Given the description of an element on the screen output the (x, y) to click on. 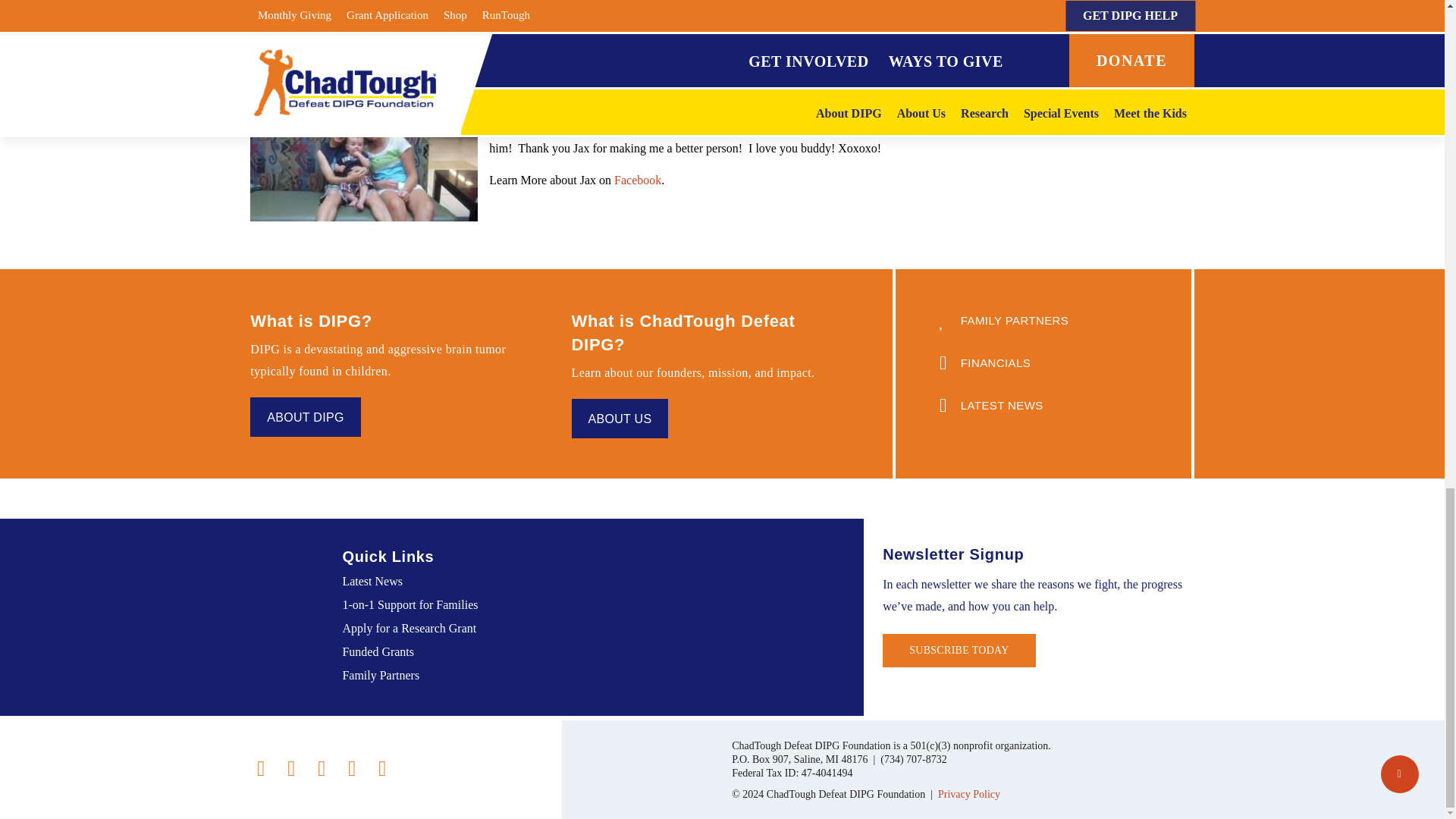
Latest News (1042, 404)
Our Financials (1042, 361)
About DIPG (304, 416)
Subscribe to the ChadTough Defeat DIPG Newsletter (958, 650)
Our Family Partners (1042, 319)
About Us (620, 418)
